Given the description of an element on the screen output the (x, y) to click on. 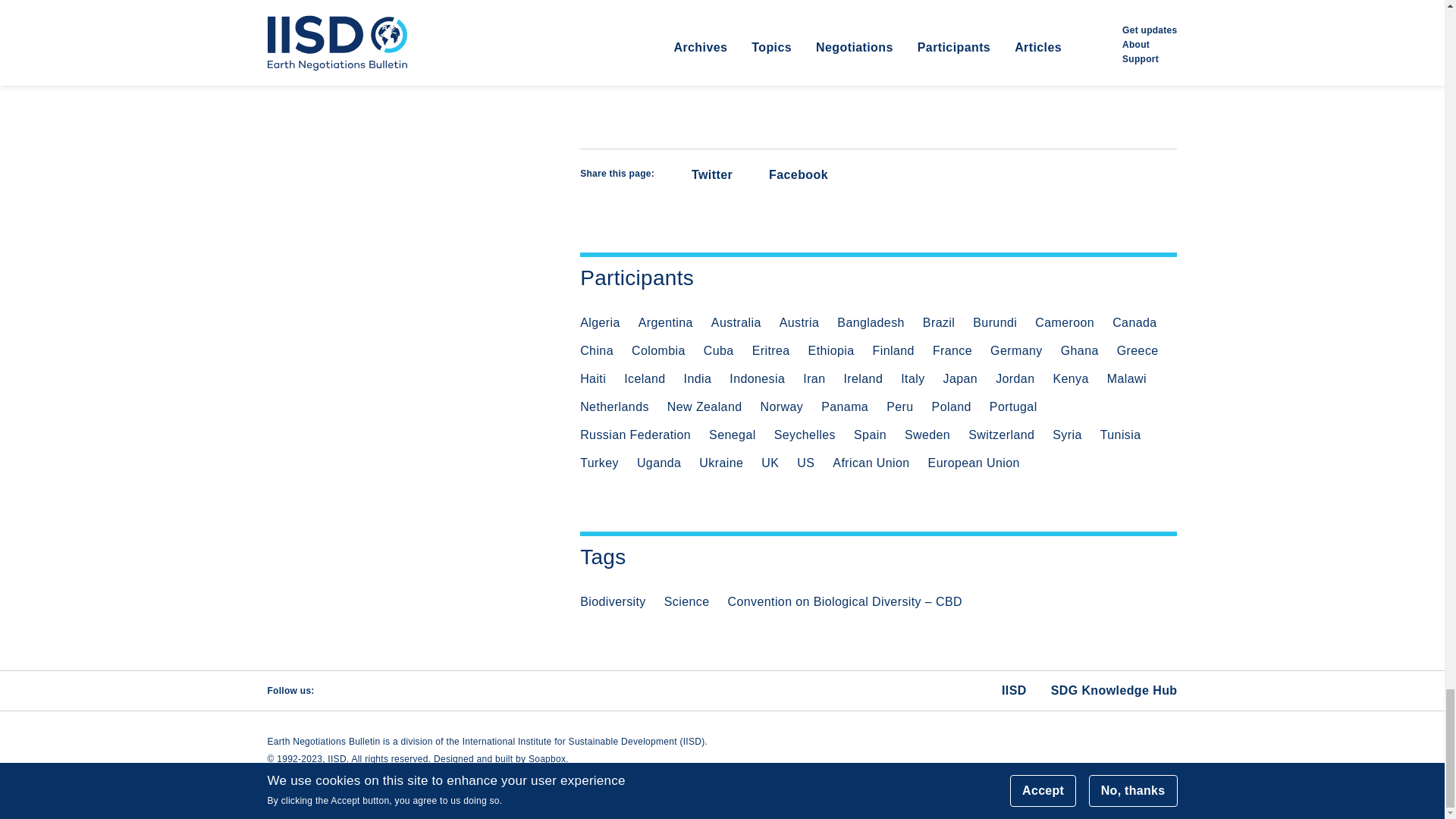
Bangladesh (870, 323)
Austria (798, 323)
Argentina (666, 323)
Share via Twitter (699, 174)
Algeria (599, 323)
Twitter (699, 174)
Share via Facebook (788, 174)
Follow us on Facebook (371, 690)
Masthead (877, 64)
Facebook (788, 174)
